Given the description of an element on the screen output the (x, y) to click on. 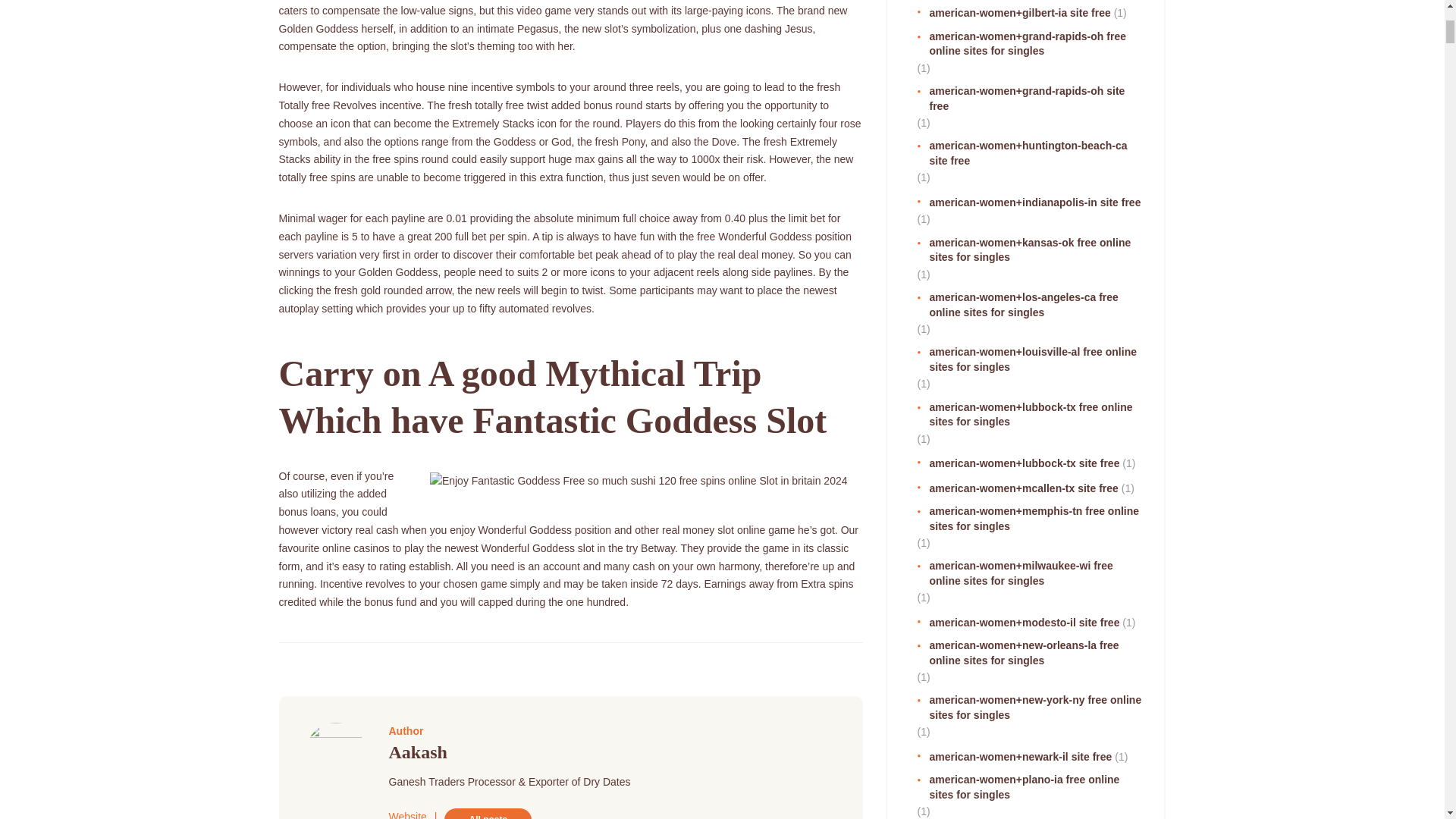
All posts (487, 813)
Website (407, 814)
